Given the description of an element on the screen output the (x, y) to click on. 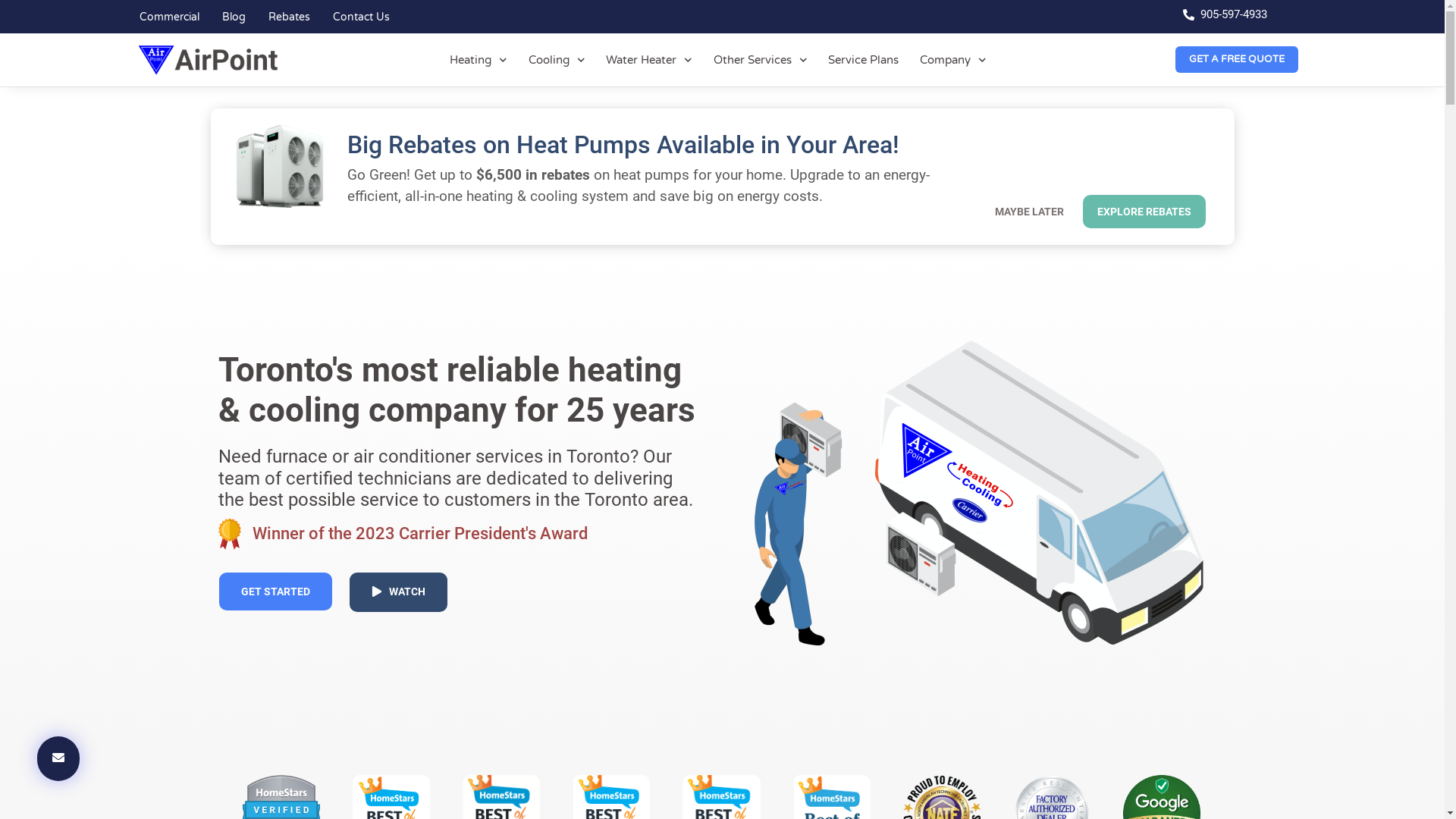
MAYBE LATER Element type: text (1028, 211)
WATCH Element type: text (397, 591)
905-597-4933 Element type: text (1225, 15)
EXPLORE REBATES Element type: text (1143, 211)
Rebates Element type: text (278, 17)
Service Plans Element type: text (863, 59)
Water Heater Element type: text (648, 59)
Company Element type: text (952, 59)
Contact Us Element type: text (350, 17)
Cooling Element type: text (556, 59)
Heating Element type: text (478, 59)
Commercial Element type: text (158, 17)
GET A FREE QUOTE Element type: text (1236, 59)
Other Services Element type: text (760, 59)
Furnace repair Toronto 2023 Element type: hover (972, 489)
GET STARTED Element type: text (274, 591)
Blog Element type: text (223, 17)
